Given the description of an element on the screen output the (x, y) to click on. 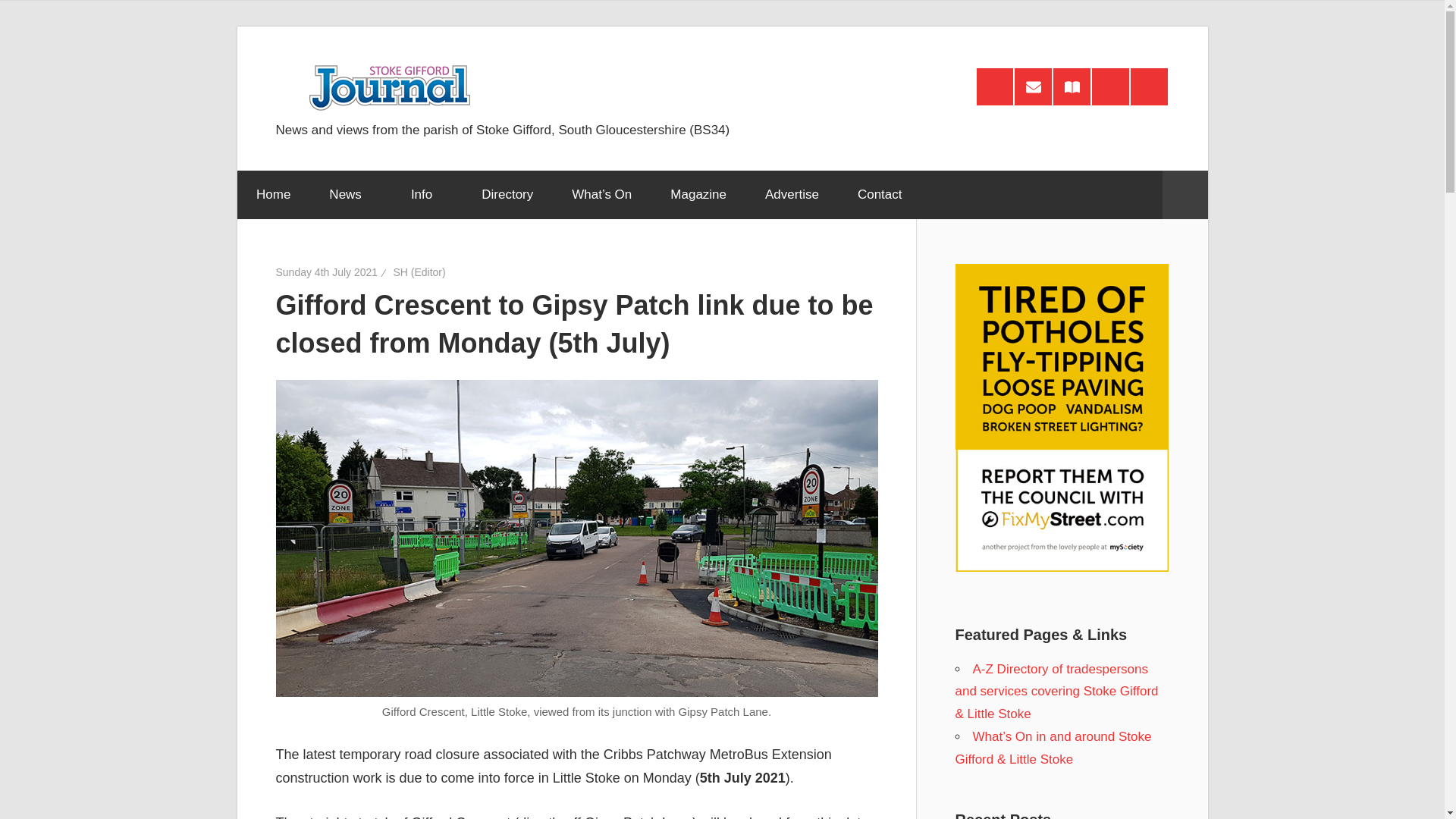
3:40pm (327, 272)
Stoke Gifford Journal on Twitter (1149, 86)
Twitter (1149, 86)
Read the Stoke Gifford Journal magazine online (1071, 86)
Stoke Gifford Journal on Facebook (1110, 86)
Read our Magazine (1071, 86)
Feed (994, 86)
News (350, 194)
Get the Stoke Gifford Journal delivered by email (1032, 86)
Subscribe by Email (1032, 86)
Facebook (1110, 86)
Home (271, 194)
Info (426, 194)
